Given the description of an element on the screen output the (x, y) to click on. 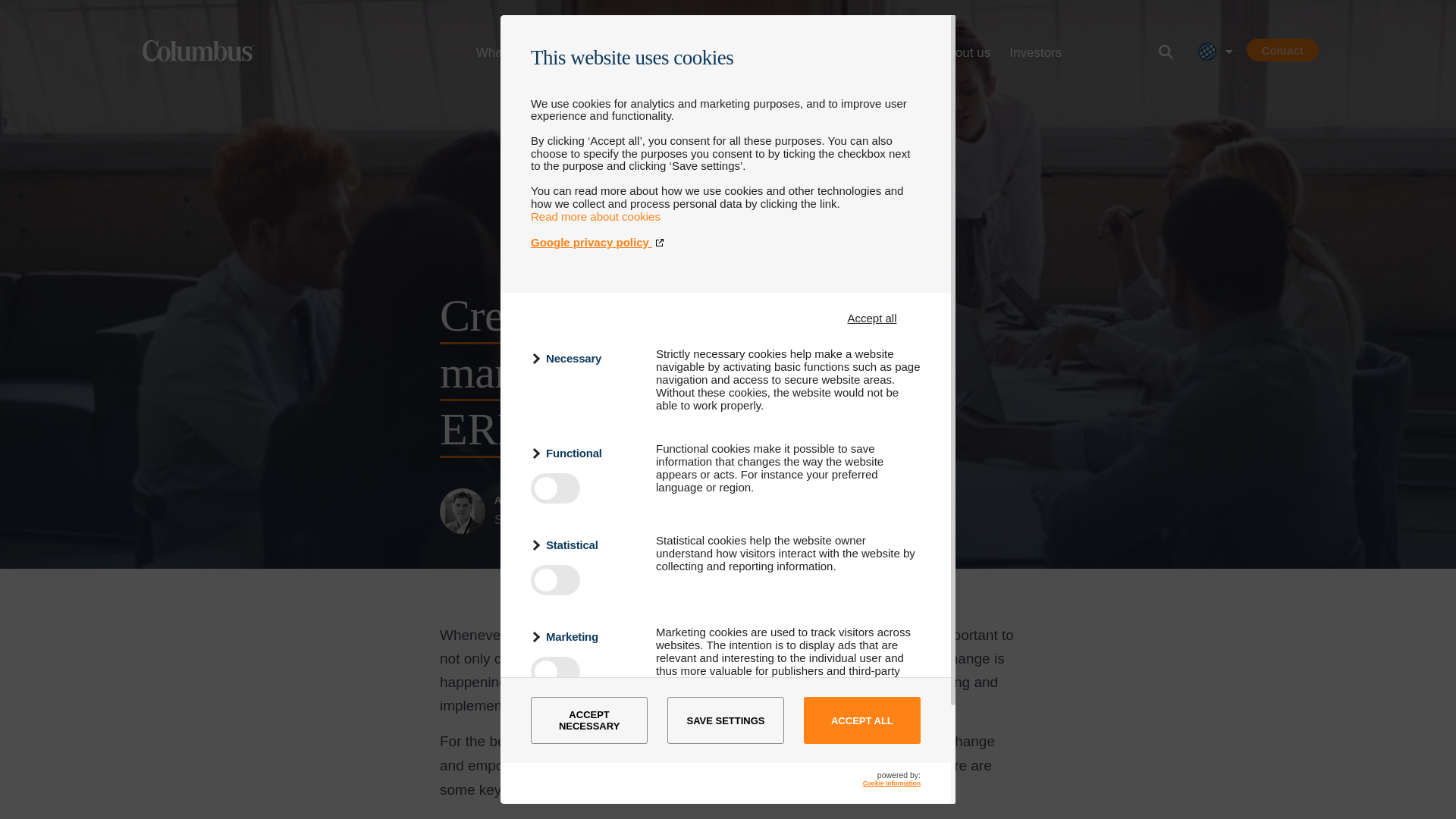
Functional (584, 453)
Read more about cookies (596, 215)
Marketing (584, 636)
Statistical (584, 544)
Accept all (872, 318)
Google privacy policy (725, 242)
Necessary (584, 358)
